Given the description of an element on the screen output the (x, y) to click on. 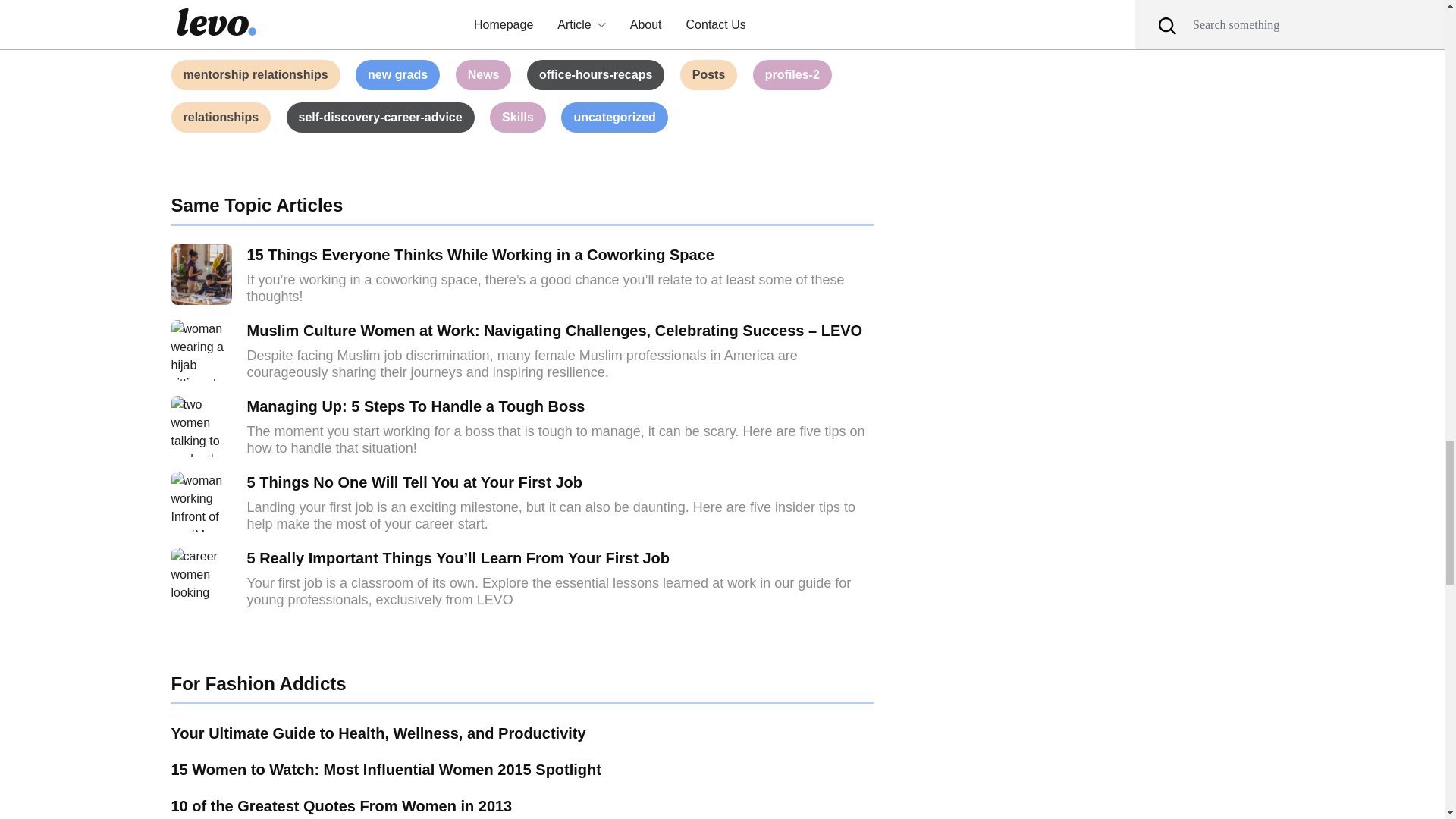
books-news (302, 2)
Lifestyle (815, 32)
from-the-founders (236, 32)
News (483, 74)
Career Expert (492, 2)
from-the-levo-founders (394, 32)
profiles-2 (791, 74)
office-hours-recaps (595, 74)
relationships (220, 117)
new grads (397, 74)
Articles (205, 2)
Fashion (595, 2)
mentorship relationships (255, 74)
giveaways (531, 32)
Food Exercise (700, 2)
